Given the description of an element on the screen output the (x, y) to click on. 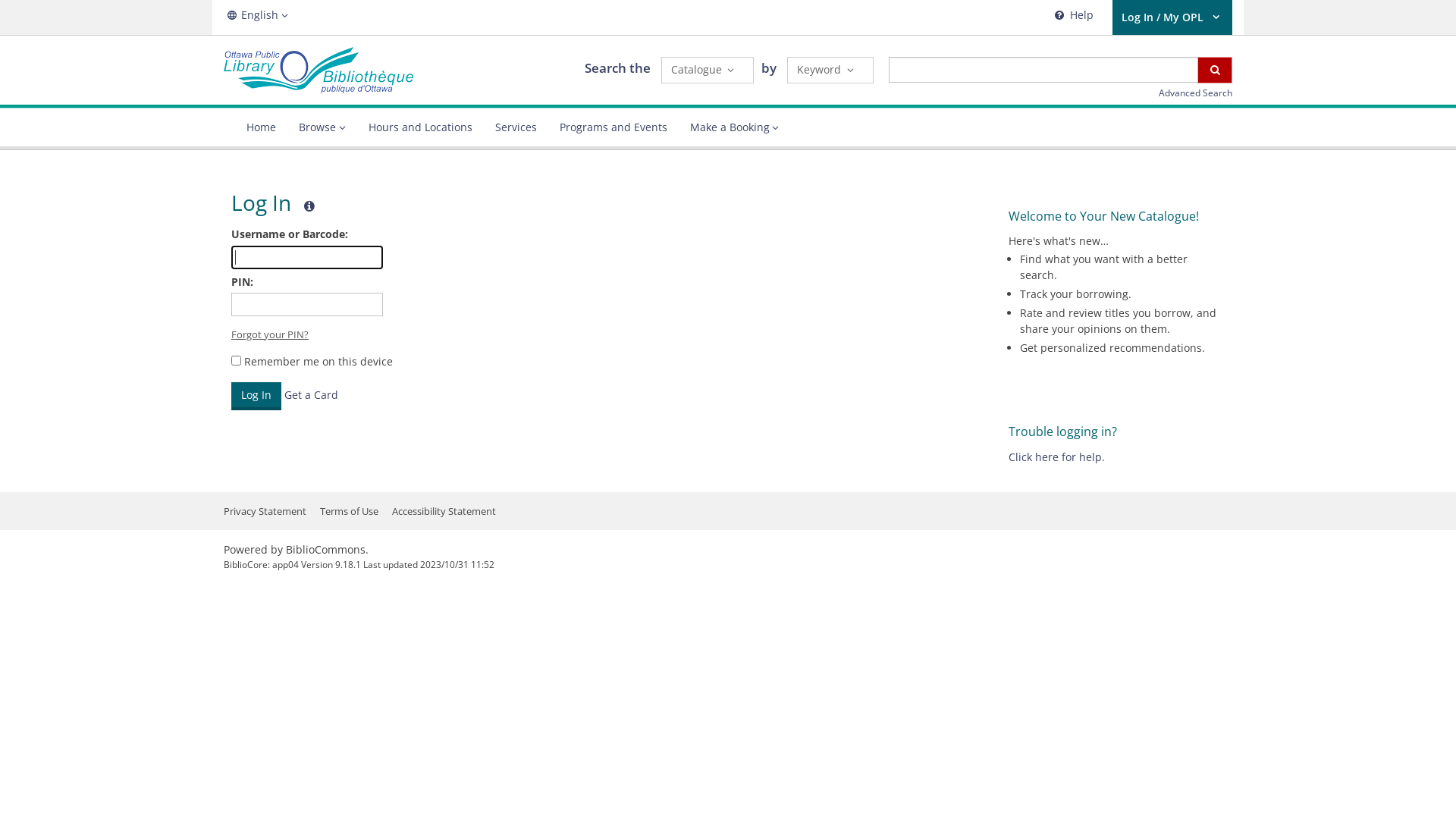
Help for logging in, opens a new window Element type: text (309, 205)
Privacy Statement Element type: text (264, 510)
Click here for help. Element type: text (1056, 456)
Advanced Search Element type: text (1195, 92)
Accessibility Statement Element type: text (443, 510)
Browse
Browse, collapsed Element type: text (322, 127)
Services Element type: text (515, 127)
Help
Help, opens a new window Element type: text (1072, 17)
Forgot your PIN? Element type: text (269, 334)
Catalogue
  Element type: text (707, 69)
Programs and Events Element type: text (612, 127)
Hours and Locations Element type: text (419, 127)
English
English, collapsed Element type: text (257, 15)
Search Element type: text (1214, 69)
Log In Element type: hover (256, 396)
Home Element type: text (261, 127)
Get a Card Element type: text (311, 394)
Log In Element type: text (256, 396)
Make a Booking
Make a Booking, collapsed Element type: text (733, 127)
Terms of Use Element type: text (349, 510)
Keyword
  Element type: text (830, 69)
Log In / My OPL
User Log In / My OPL. Element type: text (1171, 17)
